Given the description of an element on the screen output the (x, y) to click on. 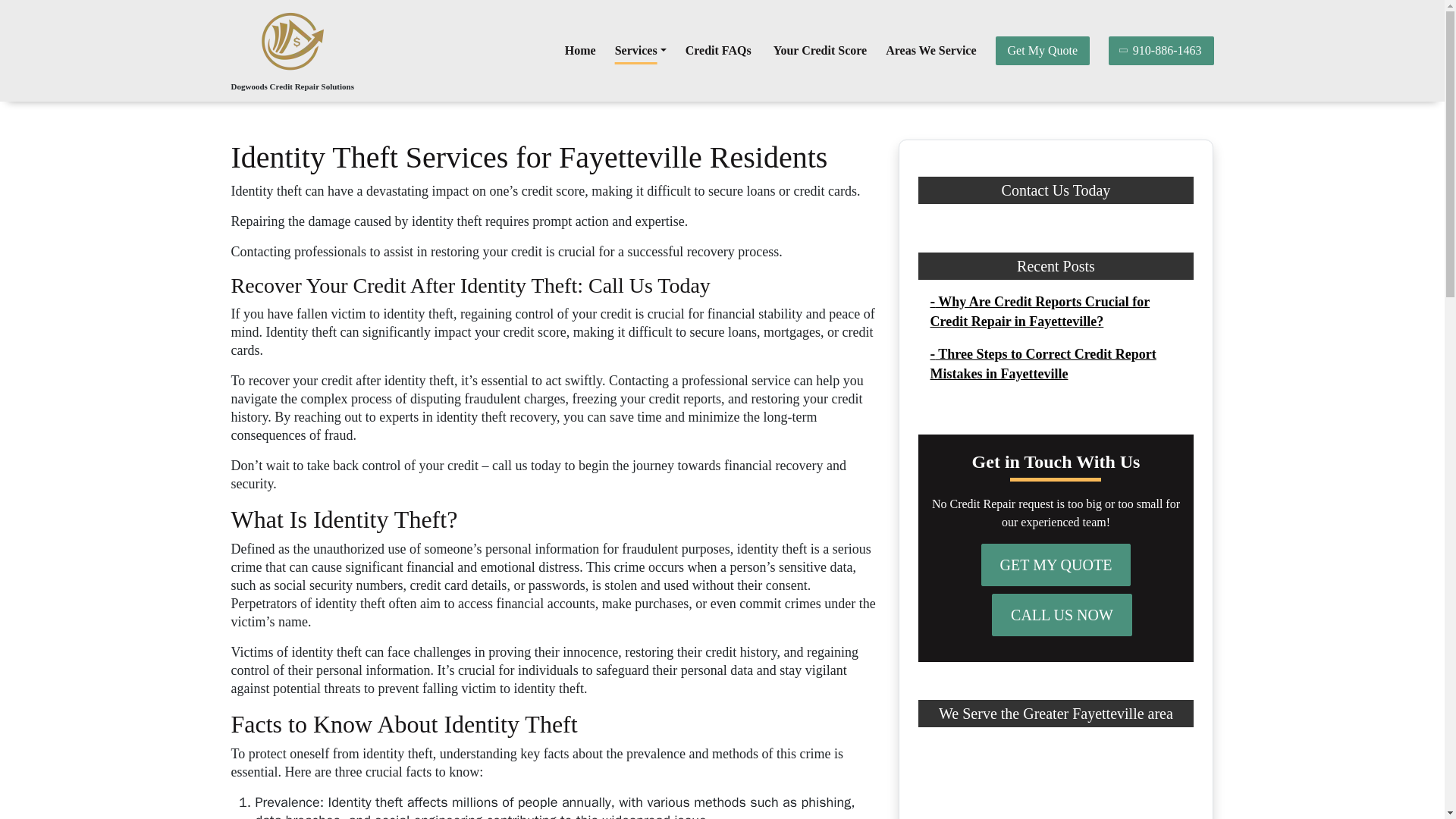
CALL US NOW (1061, 614)
Your Credit Score (820, 51)
GET MY QUOTE (1056, 564)
Services (640, 51)
Areas We Service (930, 51)
910-886-1463 (1161, 50)
Get My Quote (1042, 50)
Dogwoods Credit Repair Solutions (291, 85)
Areas We Service (930, 51)
Services (640, 51)
Credit FAQs  (719, 51)
Home (579, 51)
Your Credit Score (820, 51)
